Given the description of an element on the screen output the (x, y) to click on. 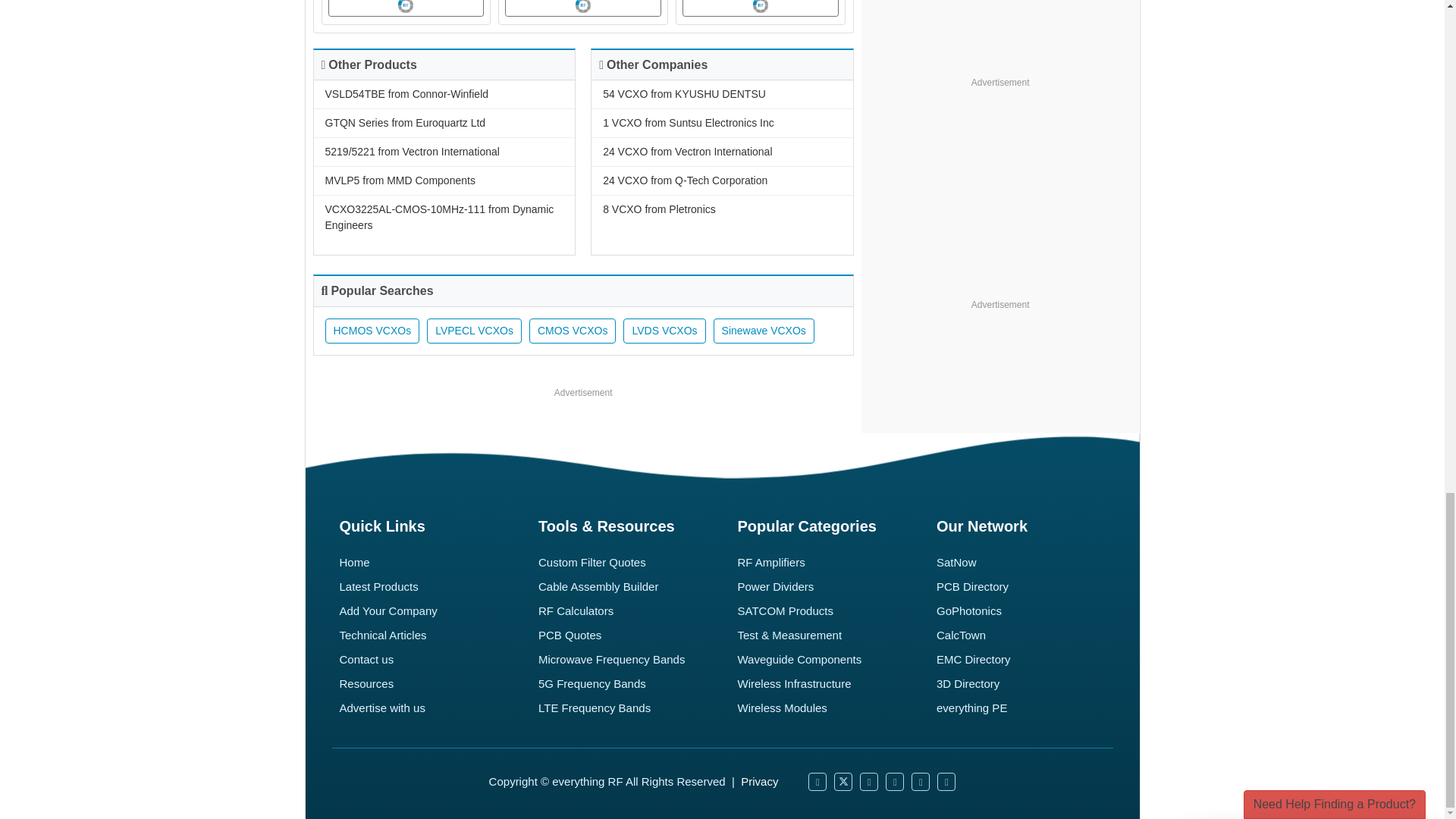
News RSS xml feed (894, 782)
Products and News RSS xml feed (946, 782)
Products RSS xml feed (920, 782)
